Given the description of an element on the screen output the (x, y) to click on. 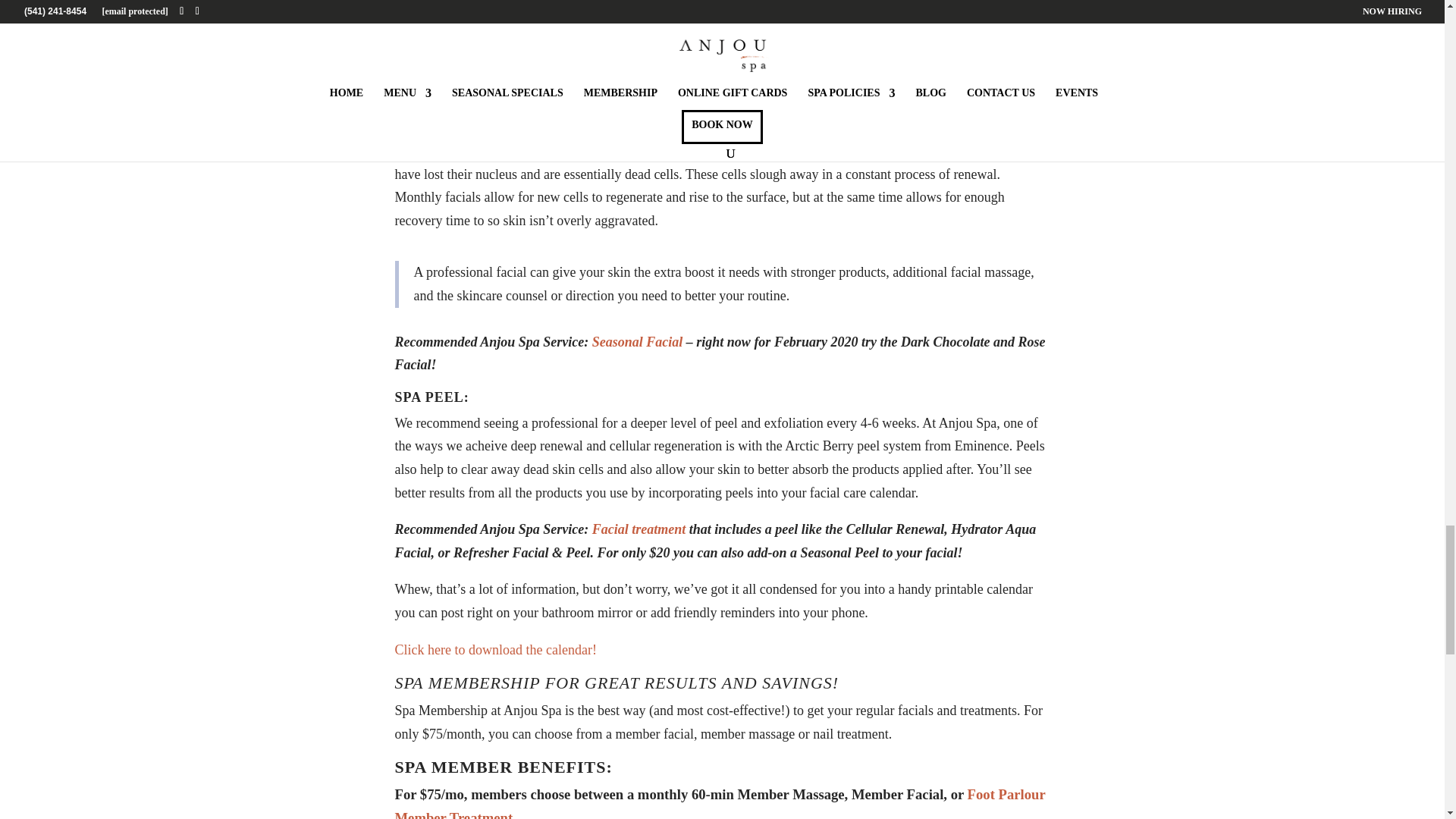
Click here to download the calendar! (494, 649)
Seasonal Facial (637, 341)
Facial treatment (638, 529)
Foot Parlour Member Treatment (719, 802)
